Given the description of an element on the screen output the (x, y) to click on. 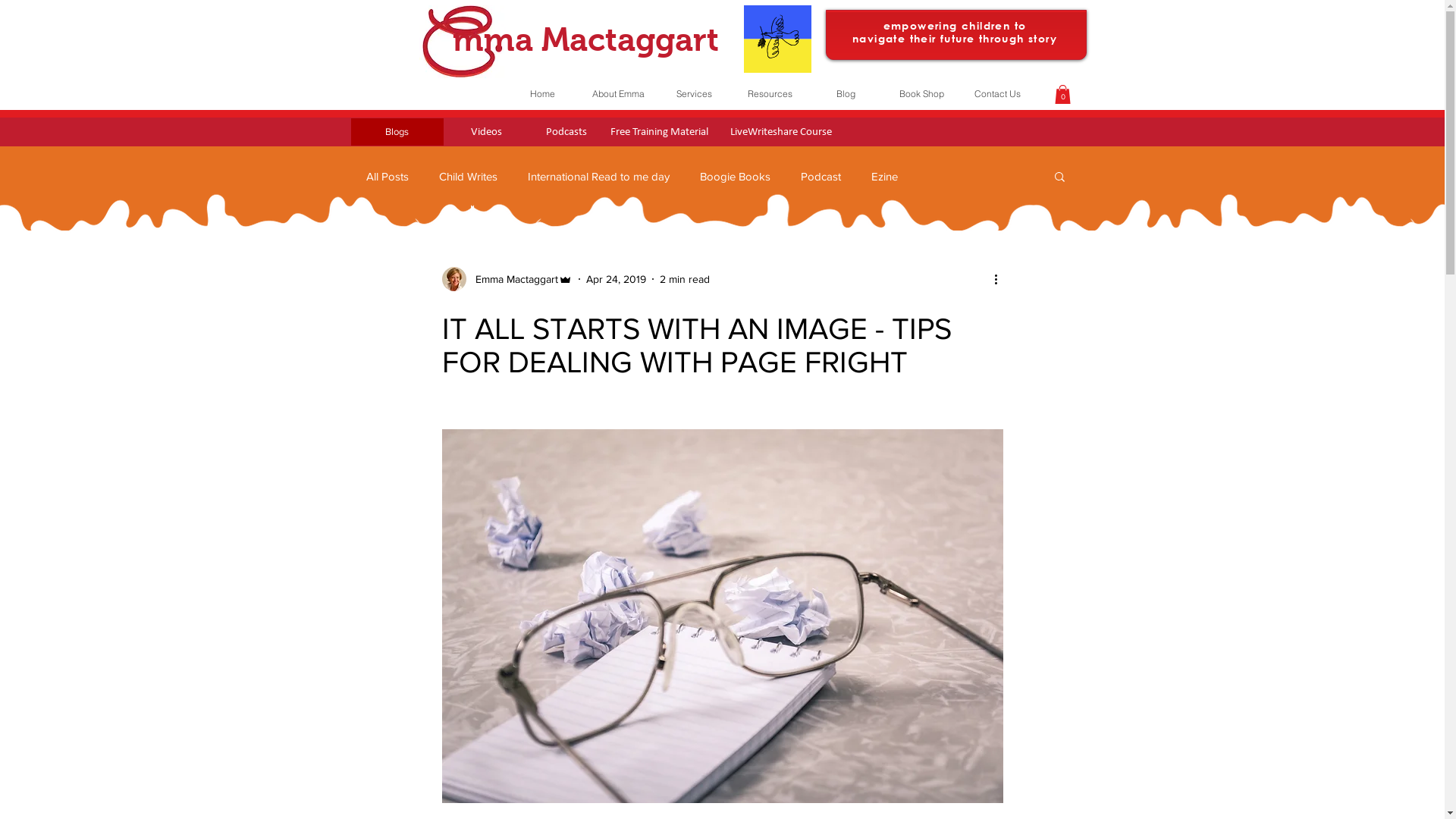
Blogs Element type: text (396, 131)
Services Element type: text (693, 93)
All Posts Element type: text (386, 175)
Podcasts Element type: text (566, 131)
LiveWriteshare Course Element type: text (780, 131)
International Read to me day Element type: text (598, 175)
Ezine Element type: text (883, 175)
Free Training Material Element type: text (659, 131)
About Emma Element type: text (617, 93)
Contact Us Element type: text (996, 93)
Home Element type: text (541, 93)
Child Writes Element type: text (467, 175)
0 Element type: text (1062, 93)
Book Shop Element type: text (920, 93)
Boogie Books Element type: text (734, 175)
Resources Element type: text (768, 93)
Podcast Element type: text (820, 175)
Emma Mactaggart Element type: text (506, 278)
Blog Element type: text (844, 93)
Videos Element type: text (485, 131)
